Given the description of an element on the screen output the (x, y) to click on. 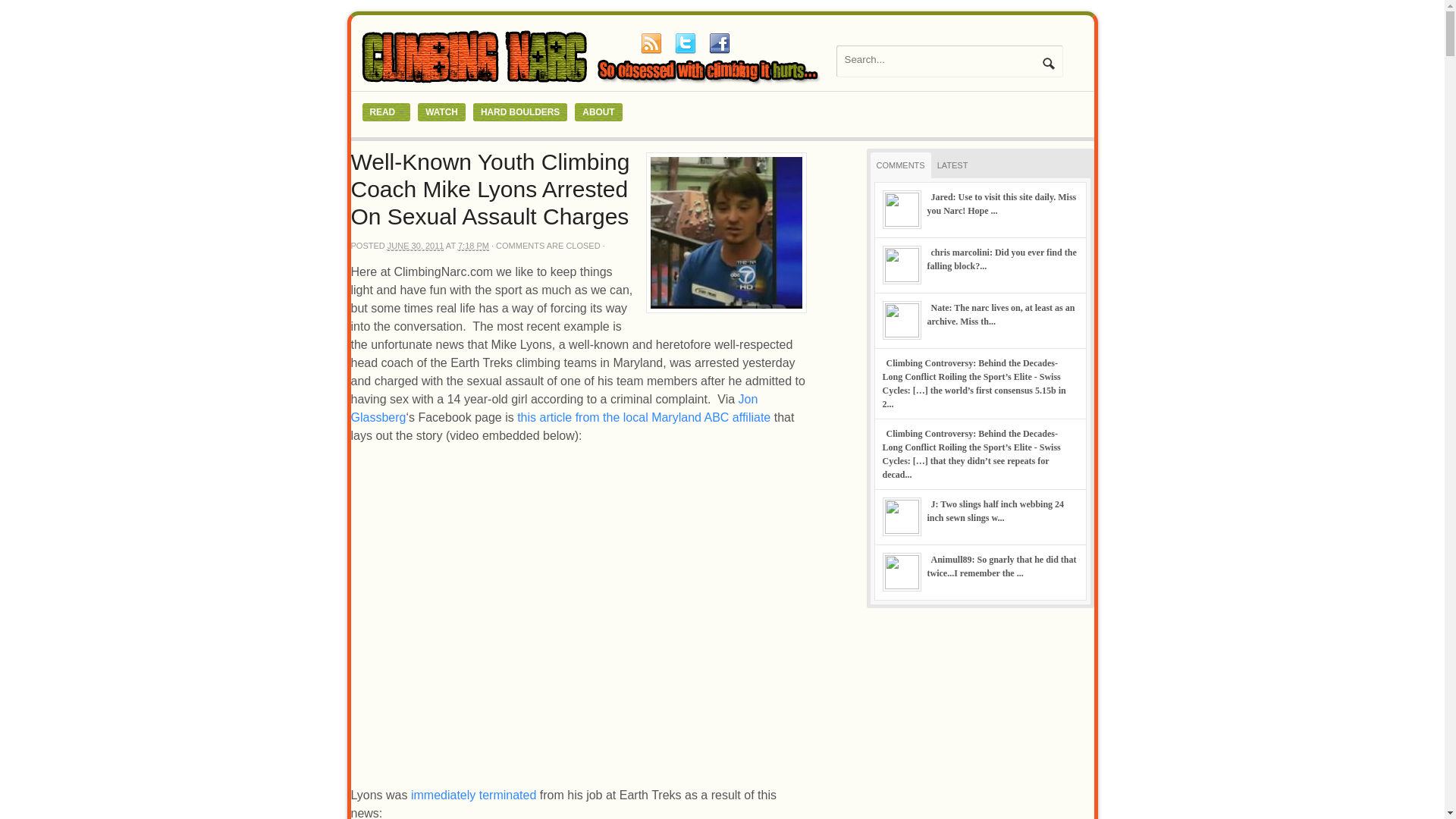
Go (1048, 63)
WATCH (441, 112)
Connect on Facebook (718, 43)
this article from the local Maryland ABC affiliate (643, 417)
Follow us on Twitter (684, 43)
2011-06-30T19:18:49-0600 (473, 245)
ABOUT (598, 112)
Subscribe to our RSS feed (650, 43)
